Given the description of an element on the screen output the (x, y) to click on. 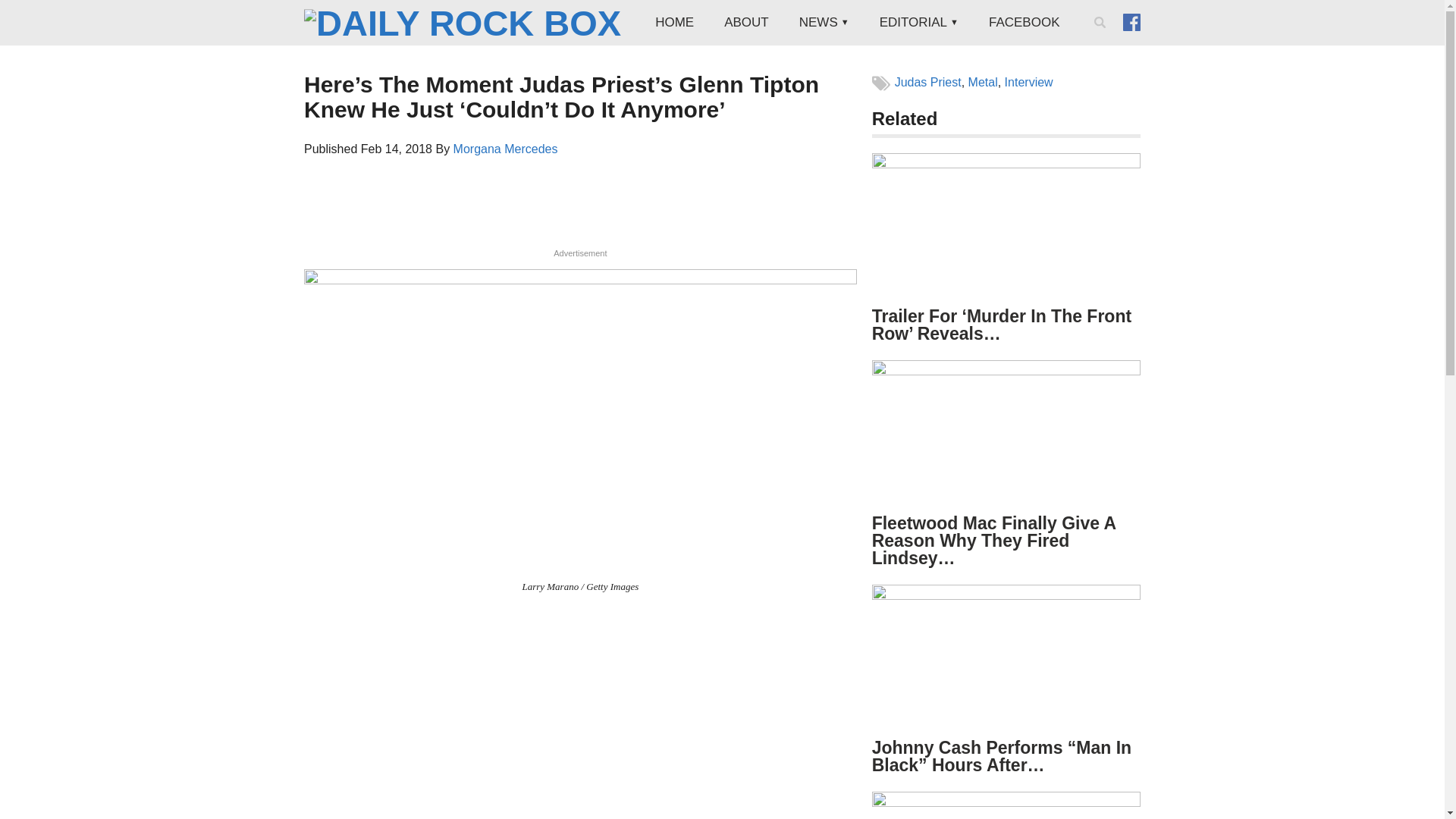
Morgana Mercedes (504, 148)
Search (1102, 42)
Daily Rock Box on Facebook (1131, 21)
Interview (1028, 82)
Metal (982, 82)
Search (1102, 42)
Judas Priest (927, 82)
HOME (674, 22)
FACEBOOK (1024, 22)
ABOUT (746, 22)
Search (1102, 42)
